Given the description of an element on the screen output the (x, y) to click on. 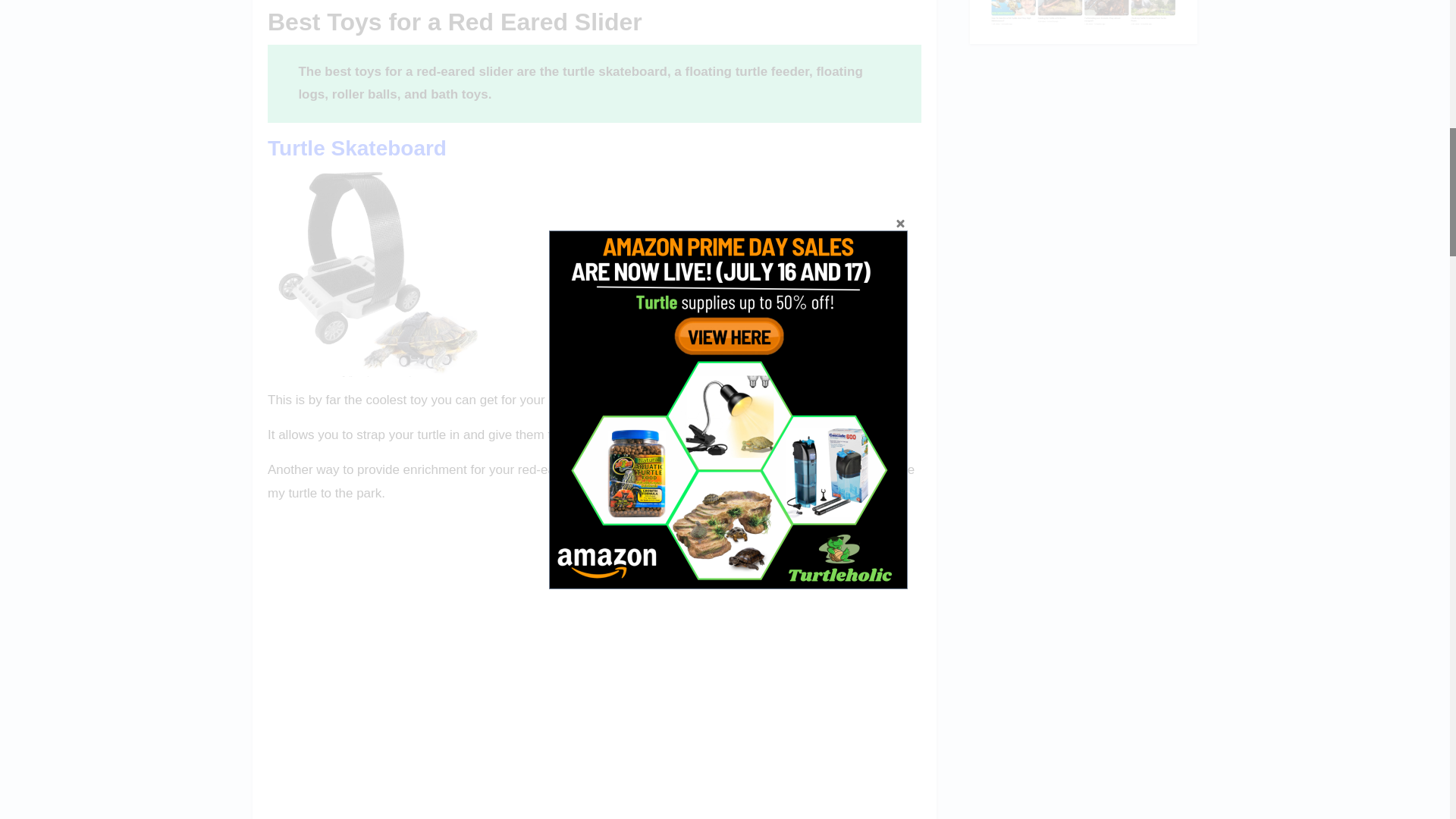
Turtle Skateboard (356, 147)
